Given the description of an element on the screen output the (x, y) to click on. 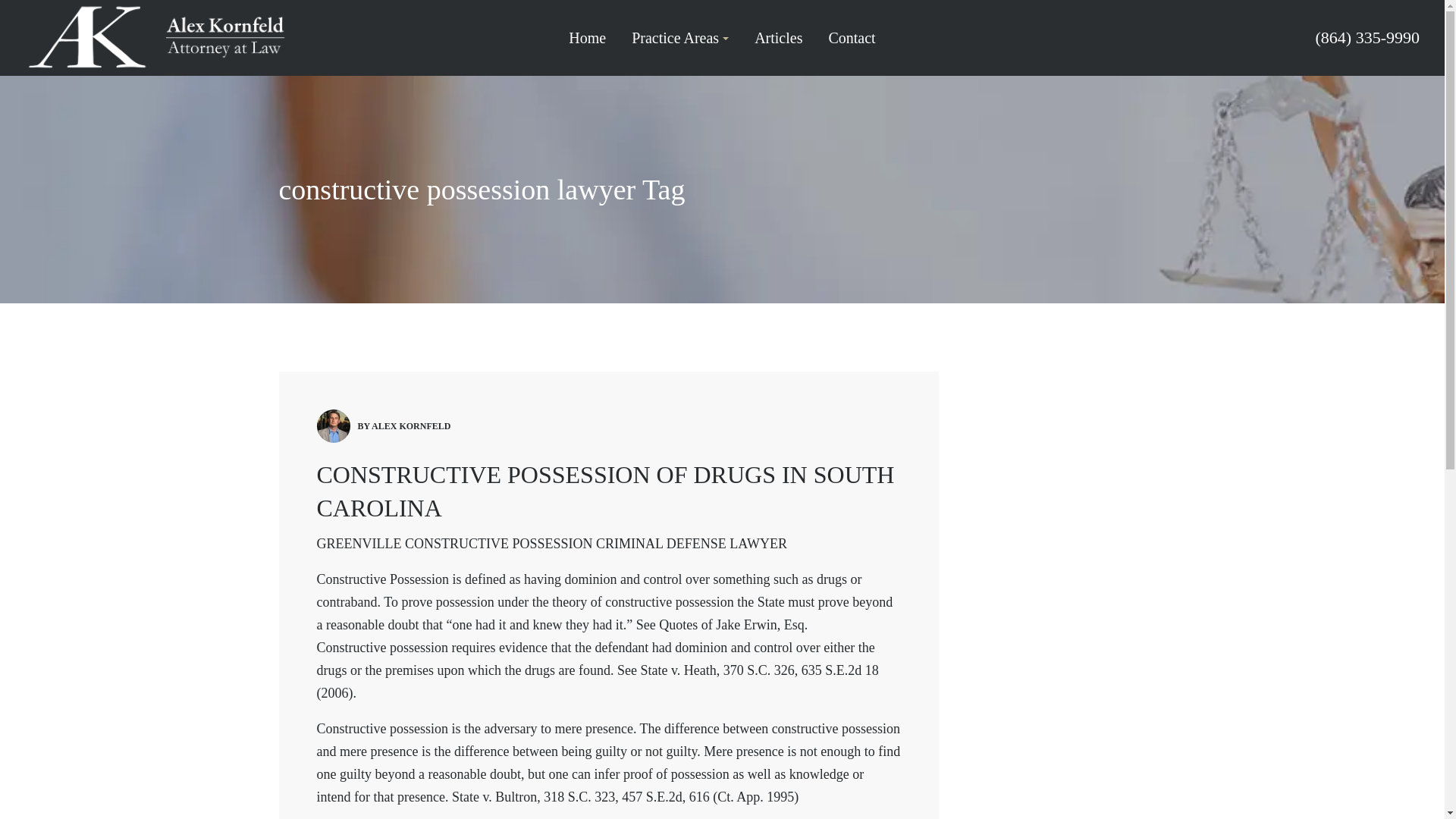
Practice Areas (680, 38)
